Given the description of an element on the screen output the (x, y) to click on. 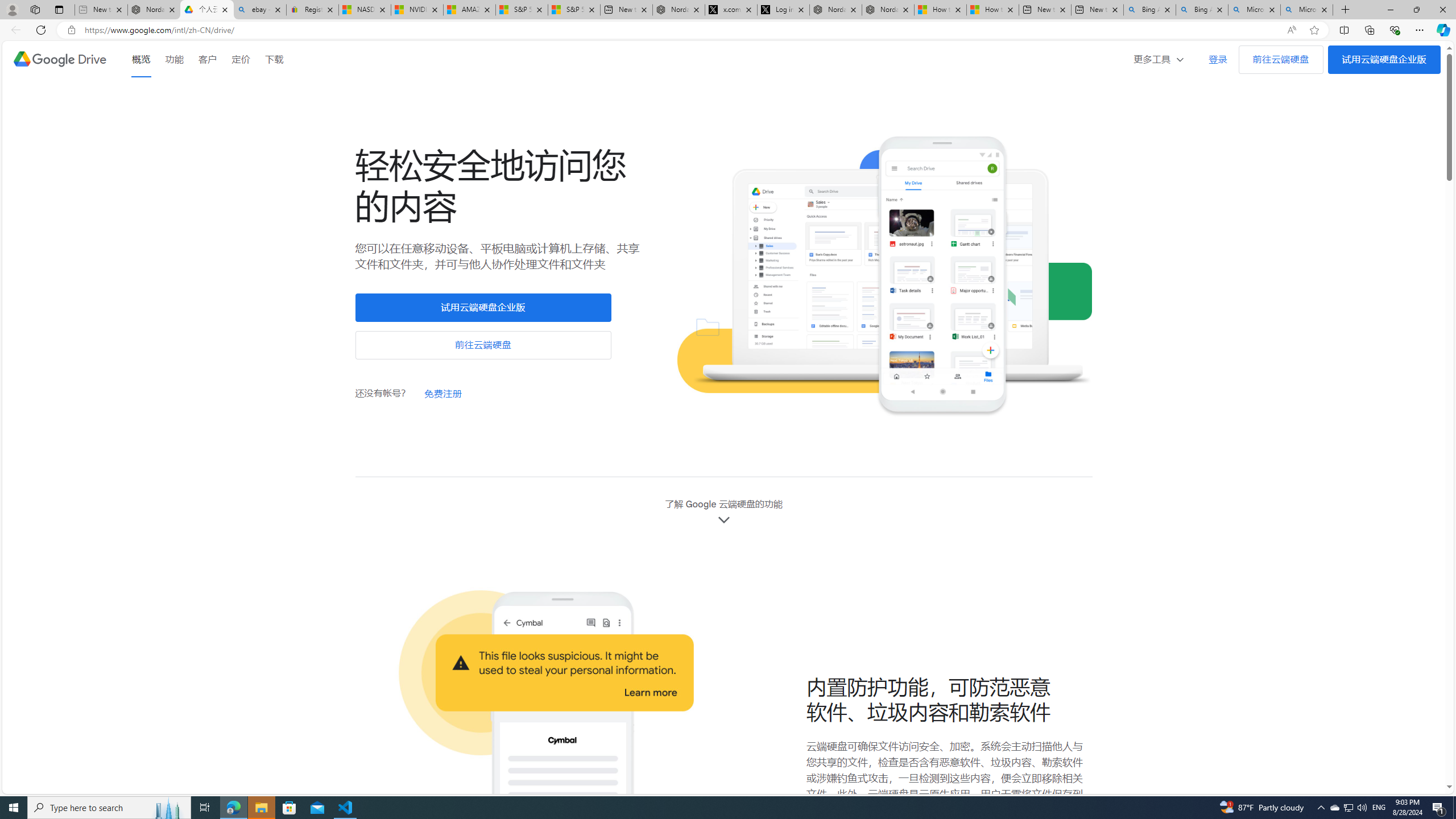
ebay - Search (259, 9)
x.com/NordaceOfficial (730, 9)
Bing AI - Search (1201, 9)
